Given the description of an element on the screen output the (x, y) to click on. 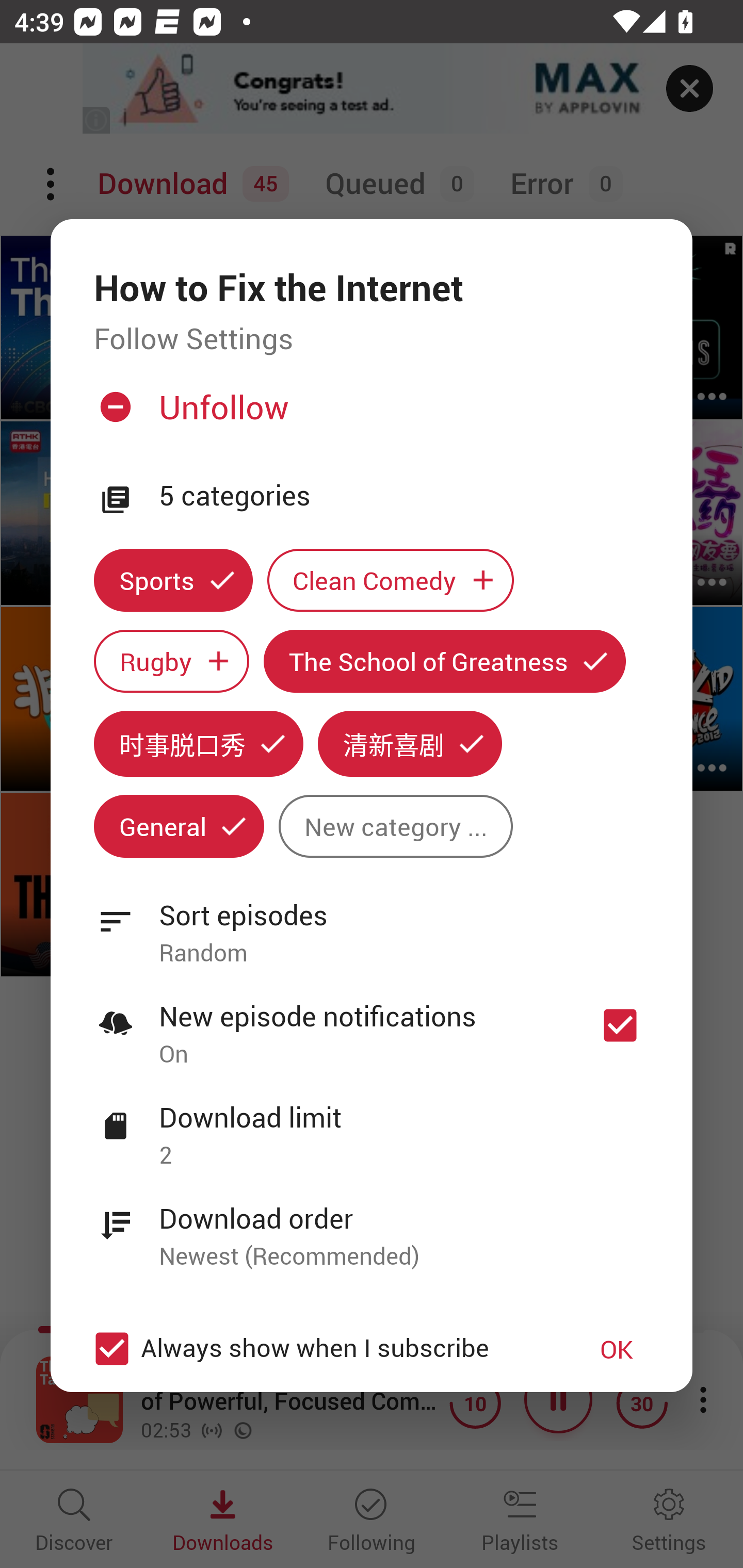
Unfollow (369, 415)
5 categories (404, 495)
Sports (172, 579)
Clean Comedy (390, 579)
Rugby (170, 661)
The School of Greatness (444, 661)
时事脱口秀 (198, 743)
清新喜剧 (410, 743)
General (178, 825)
New category ... (395, 825)
Sort episodes Random (371, 922)
New episode notifications (620, 1025)
Download limit 2 (371, 1125)
Download order Newest (Recommended) (371, 1226)
OK (616, 1349)
Always show when I subscribe (320, 1349)
